Given the description of an element on the screen output the (x, y) to click on. 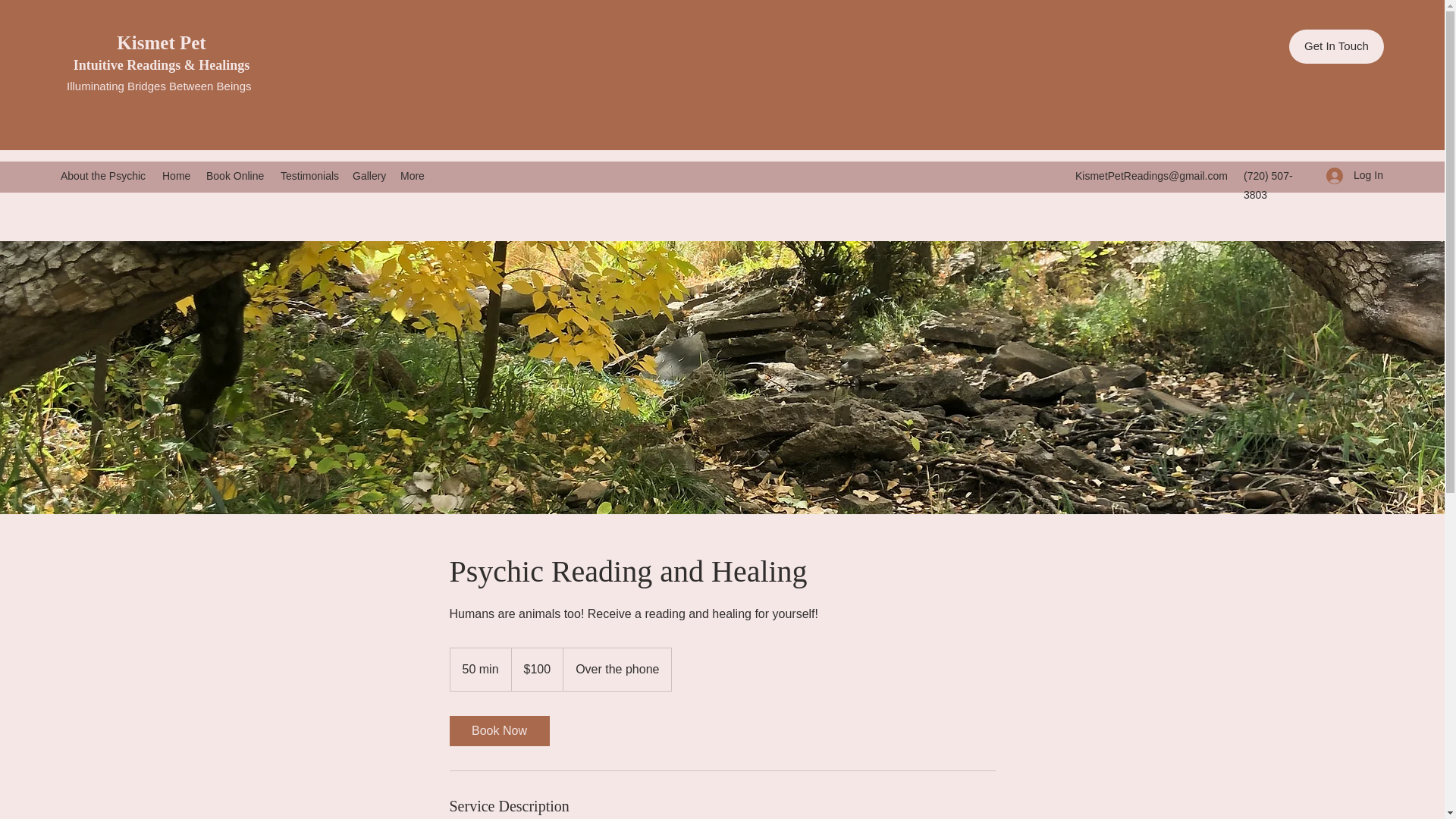
Testimonials (309, 175)
Gallery (369, 175)
Book Now (498, 730)
Log In (1350, 175)
Get In Touch (1336, 46)
Home (176, 175)
About the Psychic (103, 175)
Book Online (235, 175)
